Given the description of an element on the screen output the (x, y) to click on. 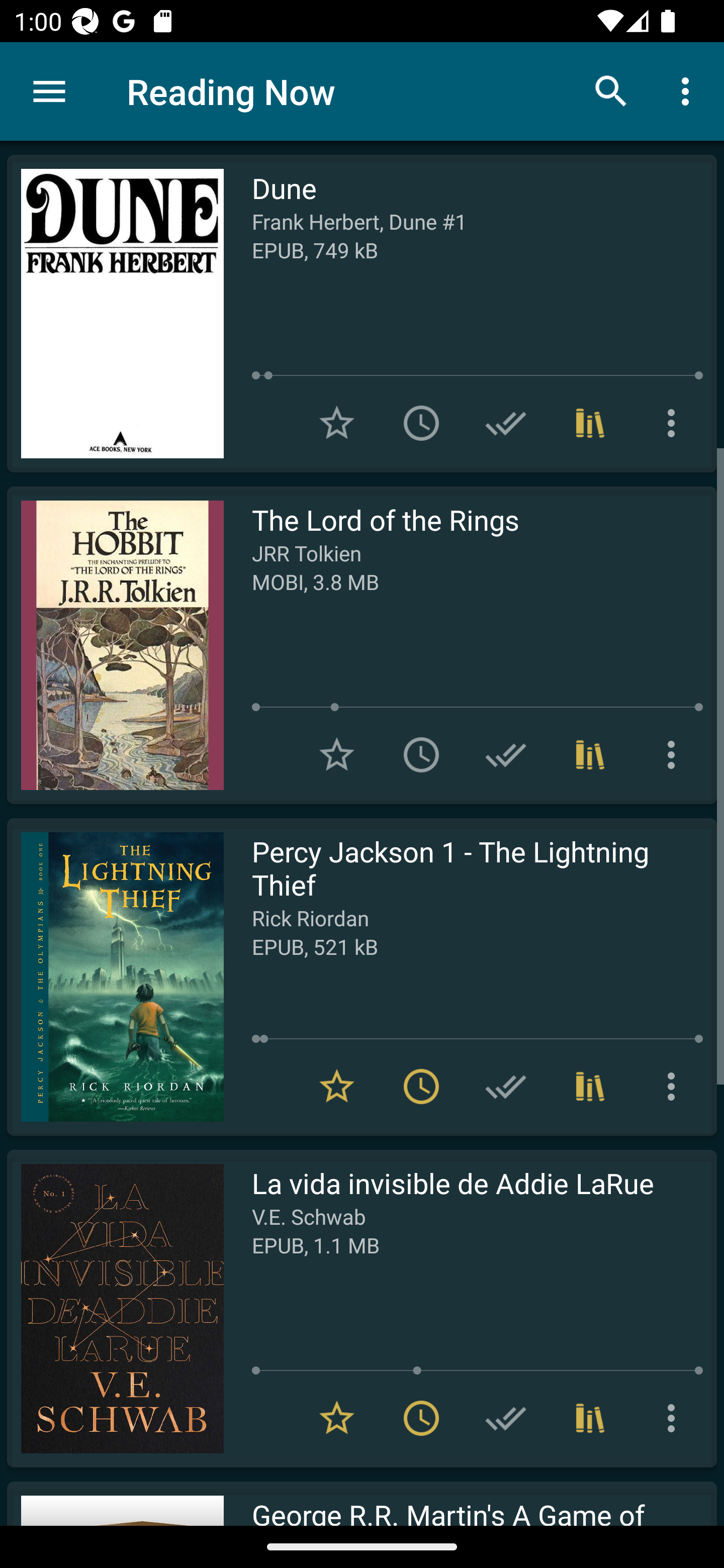
Menu (49, 91)
Search books & documents (611, 90)
More options (688, 90)
Read Dune (115, 313)
Add to Favorites (336, 423)
Add to To read (421, 423)
Add to Have read (505, 423)
Collections (1) (590, 423)
More options (674, 423)
Read The Lord of the Rings (115, 645)
Add to Favorites (336, 753)
Add to To read (421, 753)
Add to Have read (505, 753)
Collections (1) (590, 753)
More options (674, 753)
Read Percy Jackson 1 - The Lightning Thief (115, 976)
Remove from Favorites (336, 1086)
Remove from To read (421, 1086)
Add to Have read (505, 1086)
Collections (1) (590, 1086)
More options (674, 1086)
Read La vida invisible de Addie LaRue (115, 1308)
Remove from Favorites (336, 1417)
Remove from To read (421, 1417)
Add to Have read (505, 1417)
Collections (1) (590, 1417)
More options (674, 1417)
